Given the description of an element on the screen output the (x, y) to click on. 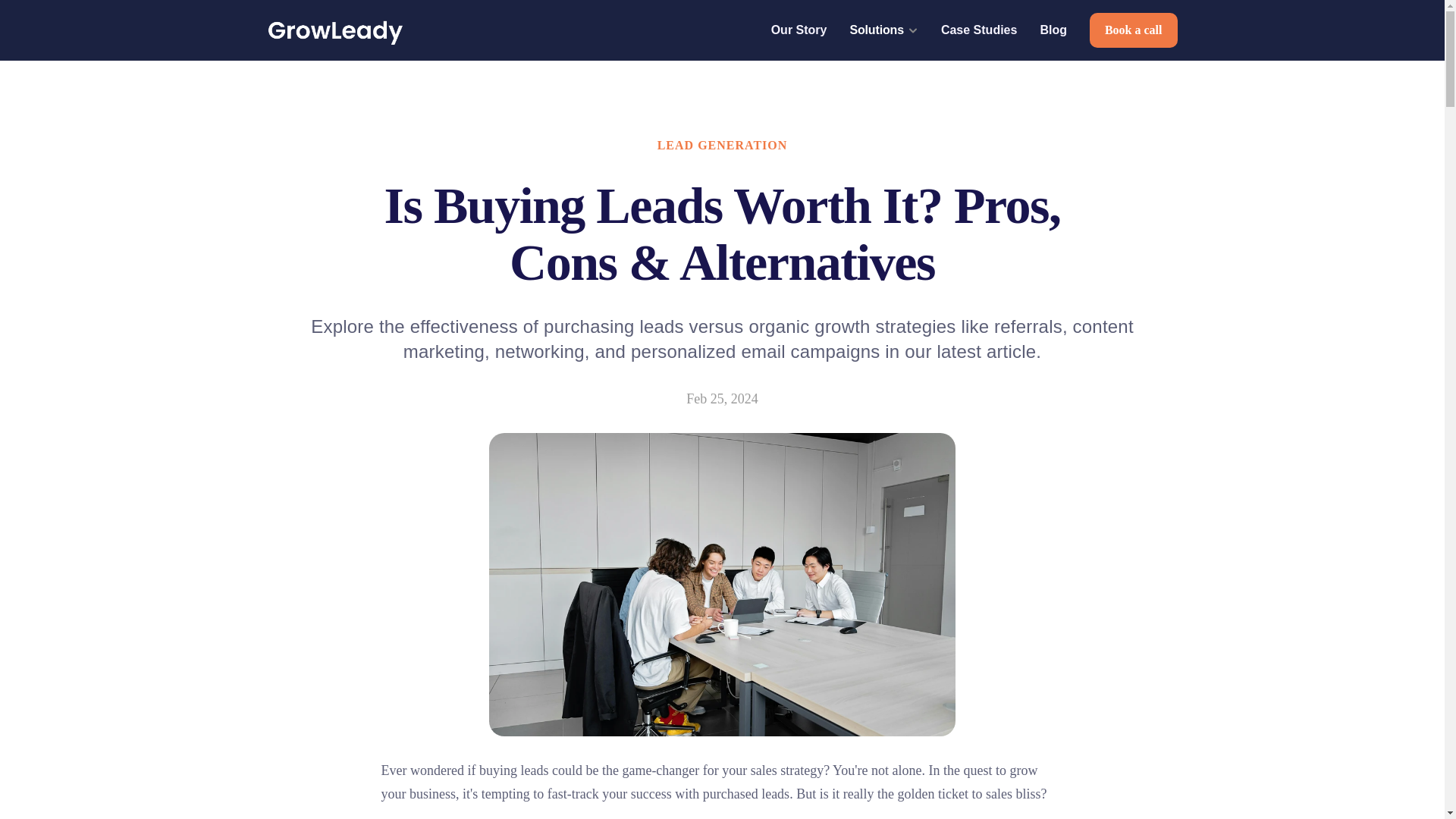
Book a call (1133, 30)
Blog (1053, 29)
Our Story (799, 29)
Case Studies (978, 29)
